Given the description of an element on the screen output the (x, y) to click on. 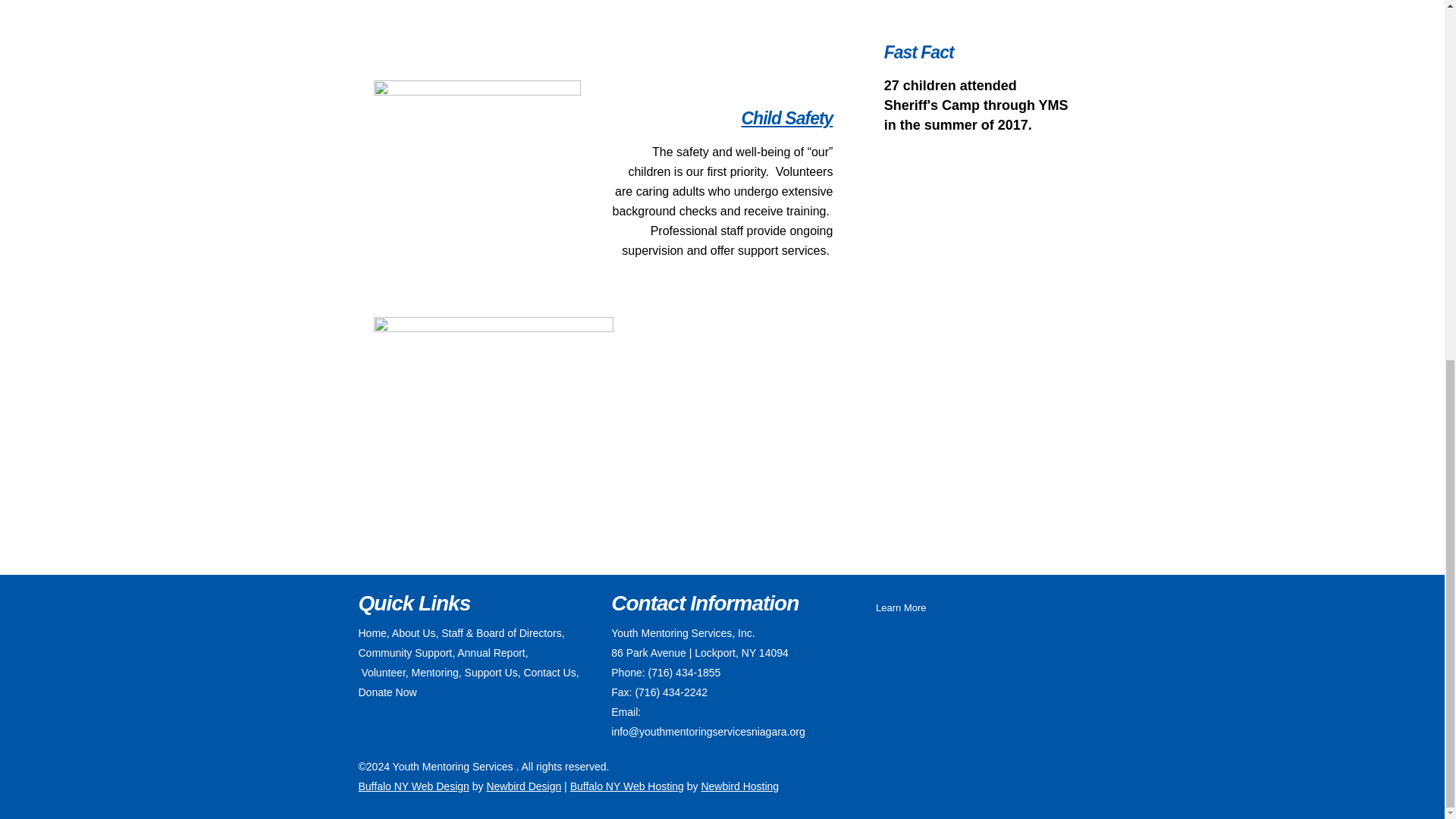
Annual Report (491, 653)
Mentoring, (436, 672)
Volunteer (382, 672)
Support Us, (492, 672)
Home, (373, 633)
Donate (973, 9)
Community Support (404, 653)
Learn More (908, 608)
Donate Now (387, 692)
About Us, (414, 633)
Contact Us, (550, 672)
